Given the description of an element on the screen output the (x, y) to click on. 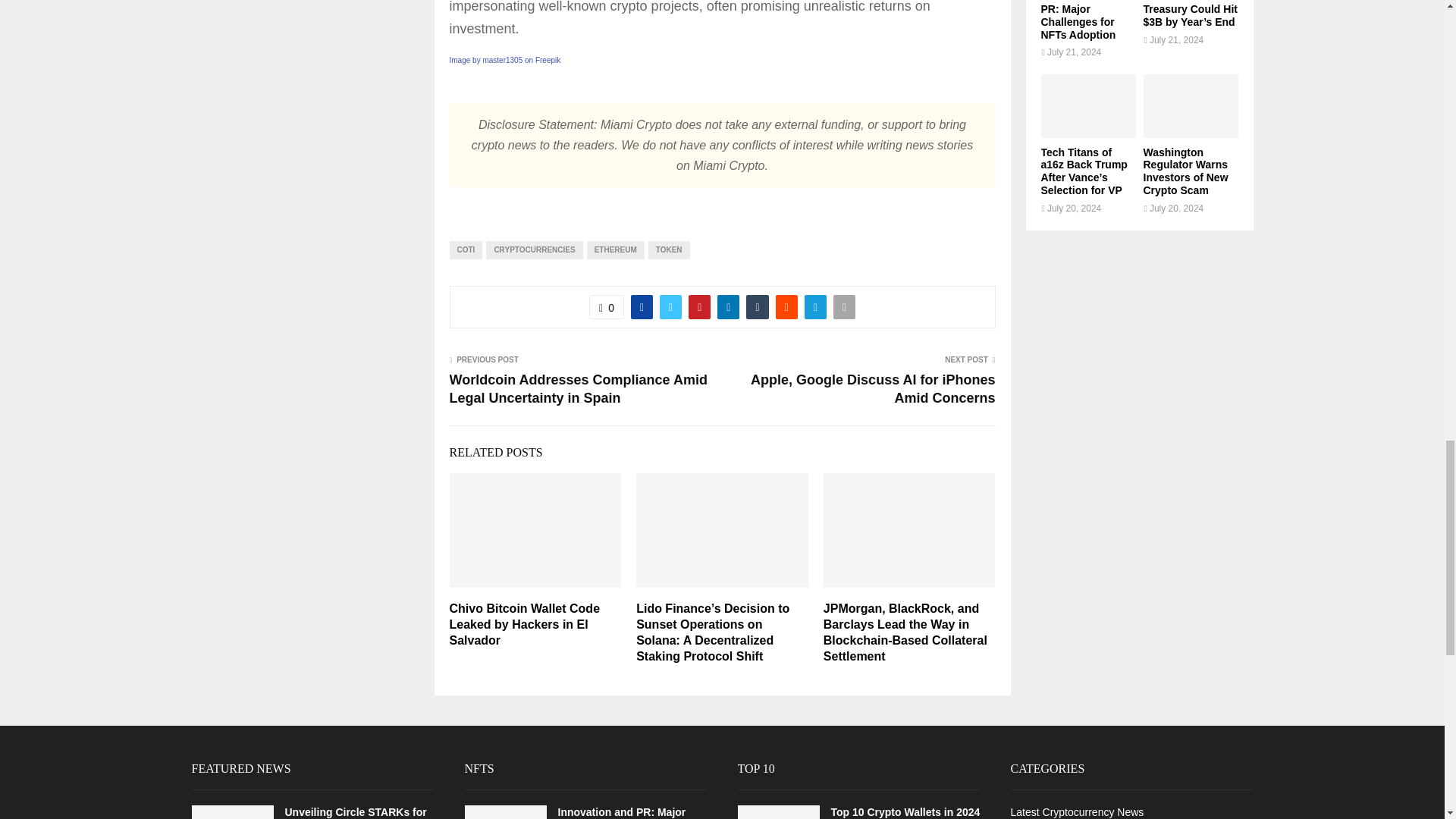
Like (606, 306)
0 (606, 306)
ETHEREUM (615, 249)
CRYPTOCURRENCIES (534, 249)
TOKEN (668, 249)
Image by master1305 on Freepik (504, 60)
COTI (464, 249)
